Given the description of an element on the screen output the (x, y) to click on. 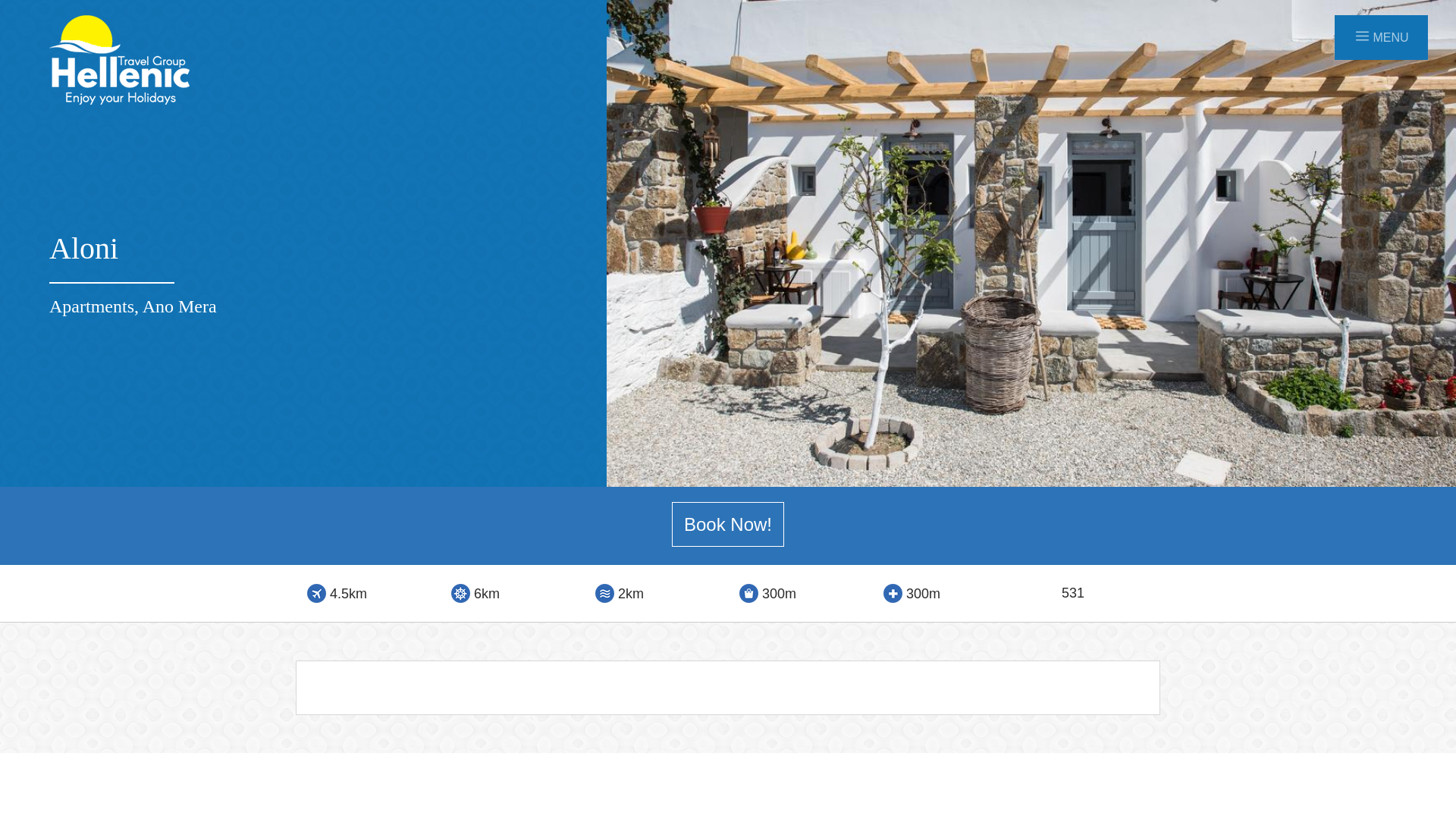
MENU (1380, 37)
Airport (316, 592)
Shops (748, 592)
Book Now! (727, 524)
Beach (604, 592)
Pharmacy (892, 592)
Port (460, 592)
